Given the description of an element on the screen output the (x, y) to click on. 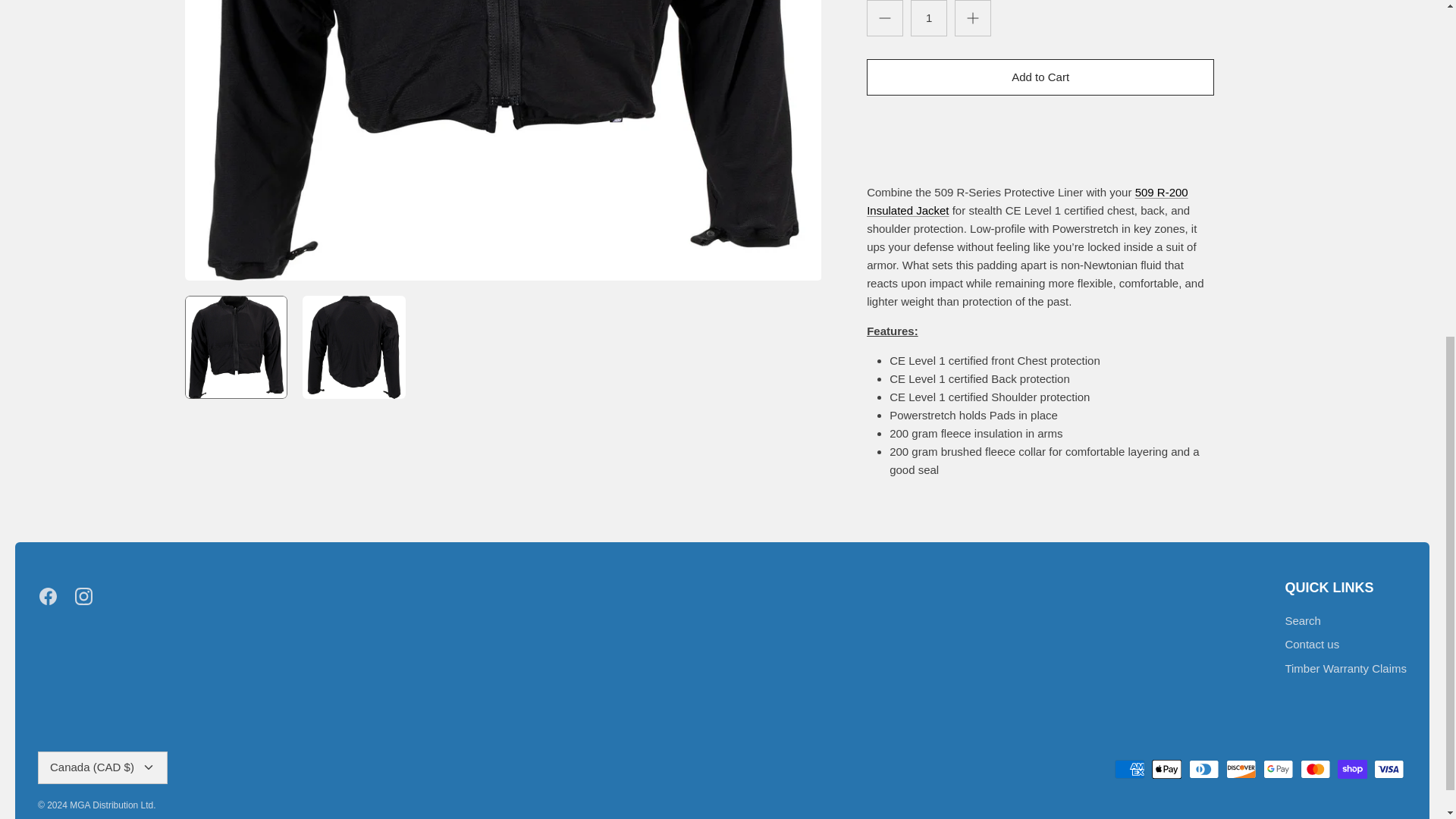
Shop Pay (1352, 769)
American Express (1129, 769)
Apple Pay (1166, 769)
Google Pay (1277, 769)
Visa (1388, 769)
Mastercard (1315, 769)
Discover (1240, 769)
Diners Club (1203, 769)
1 (929, 18)
Instagram (84, 596)
